Given the description of an element on the screen output the (x, y) to click on. 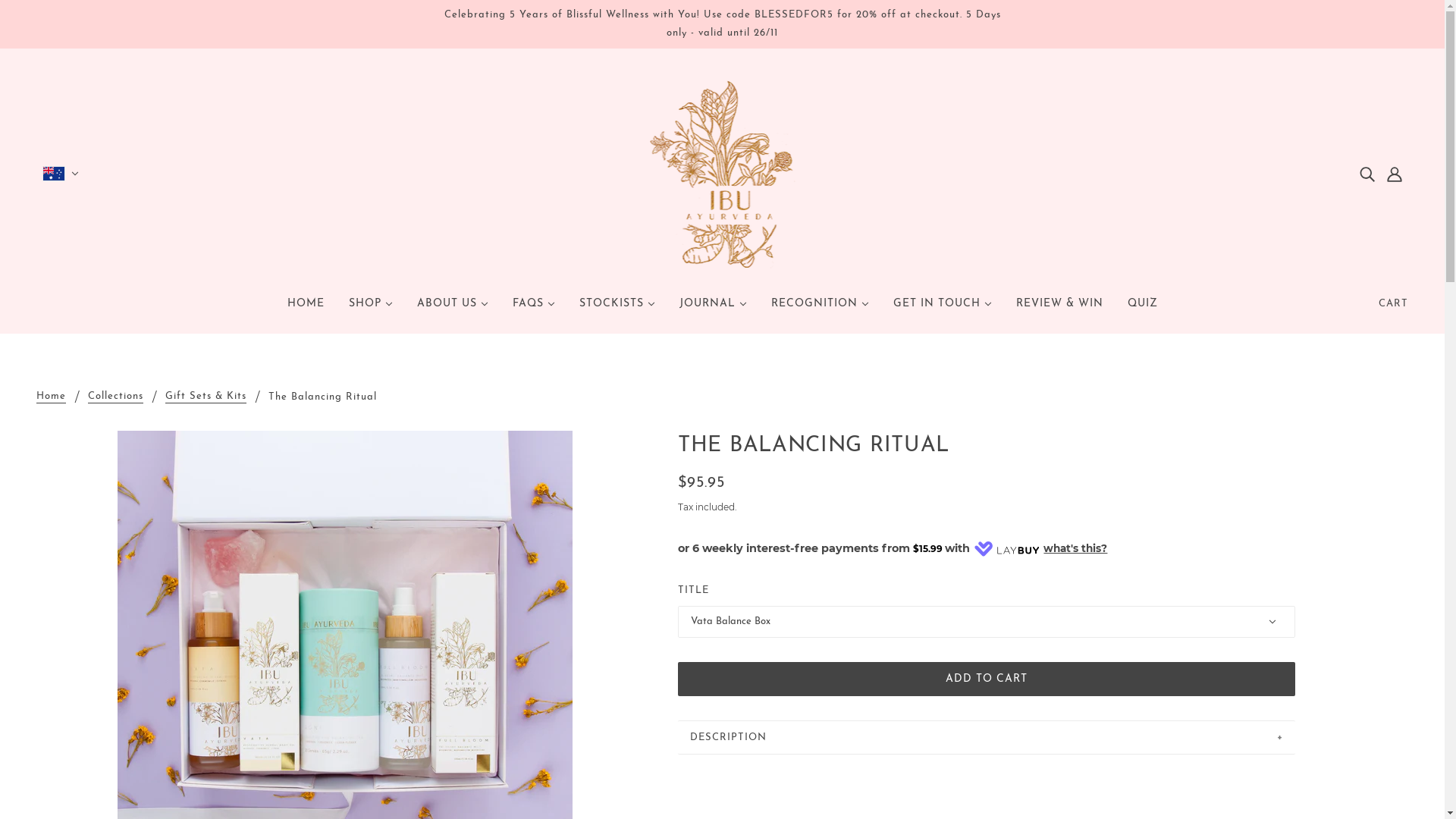
QUIZ Element type: text (1141, 309)
Vata Balance Box Element type: text (986, 621)
FAQS  Element type: text (533, 309)
STOCKISTS  Element type: text (617, 309)
ABOUT US  Element type: text (452, 309)
GET IN TOUCH  Element type: text (942, 309)
CART Element type: text (1393, 303)
RECOGNITION  Element type: text (819, 309)
ADD TO CART Element type: text (986, 679)
HOME Element type: text (304, 309)
REVIEW & WIN Element type: text (1059, 309)
Ibu Ayurveda Element type: hover (721, 172)
SHOP  Element type: text (370, 309)
DESCRIPTION Element type: text (986, 737)
JOURNAL  Element type: text (713, 309)
Gift Sets & Kits Element type: text (205, 397)
Home Element type: text (50, 397)
what's this? Element type: text (1075, 548)
Collections Element type: text (115, 397)
